Given the description of an element on the screen output the (x, y) to click on. 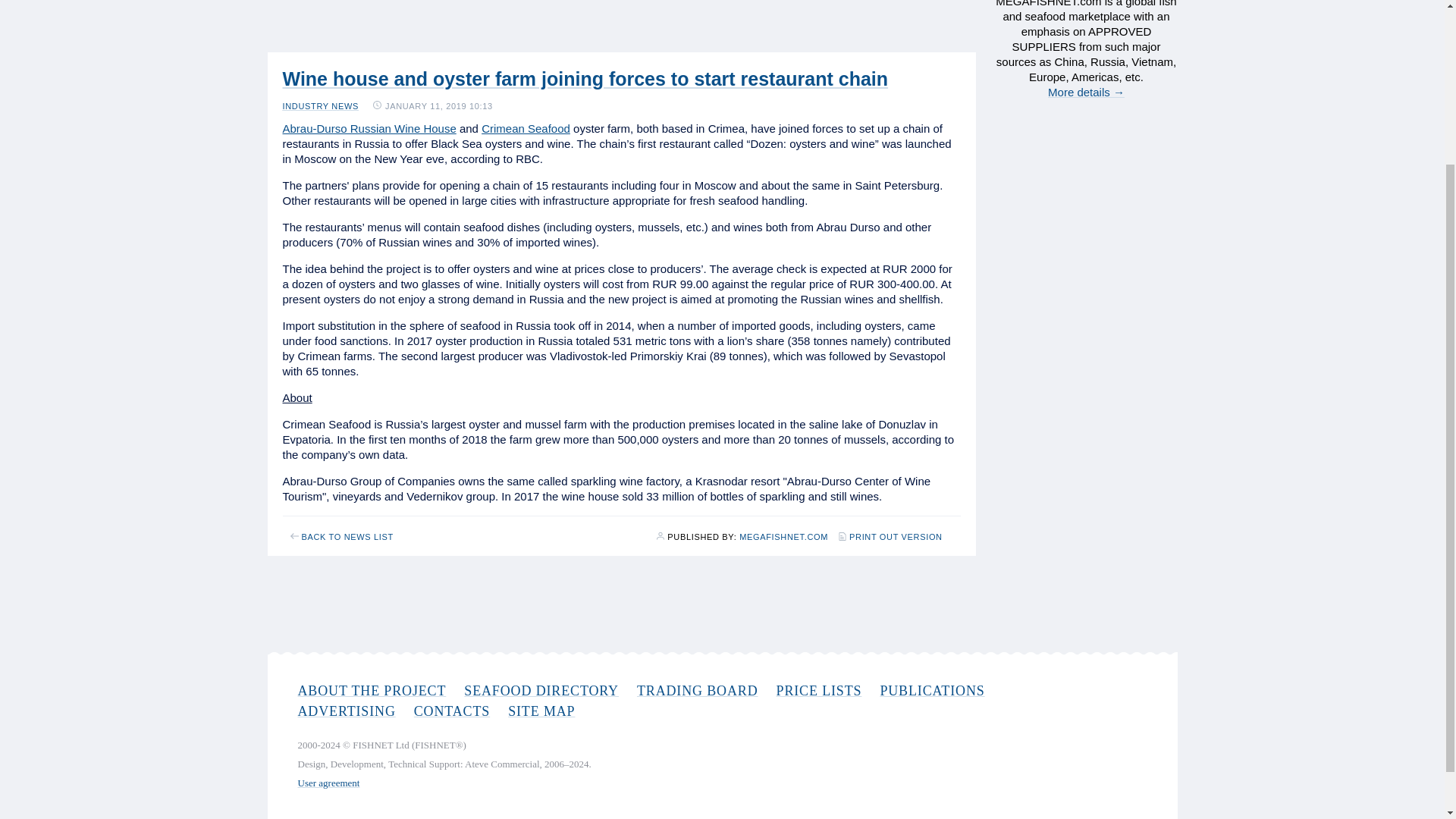
FISHNET.RU (783, 536)
